Given the description of an element on the screen output the (x, y) to click on. 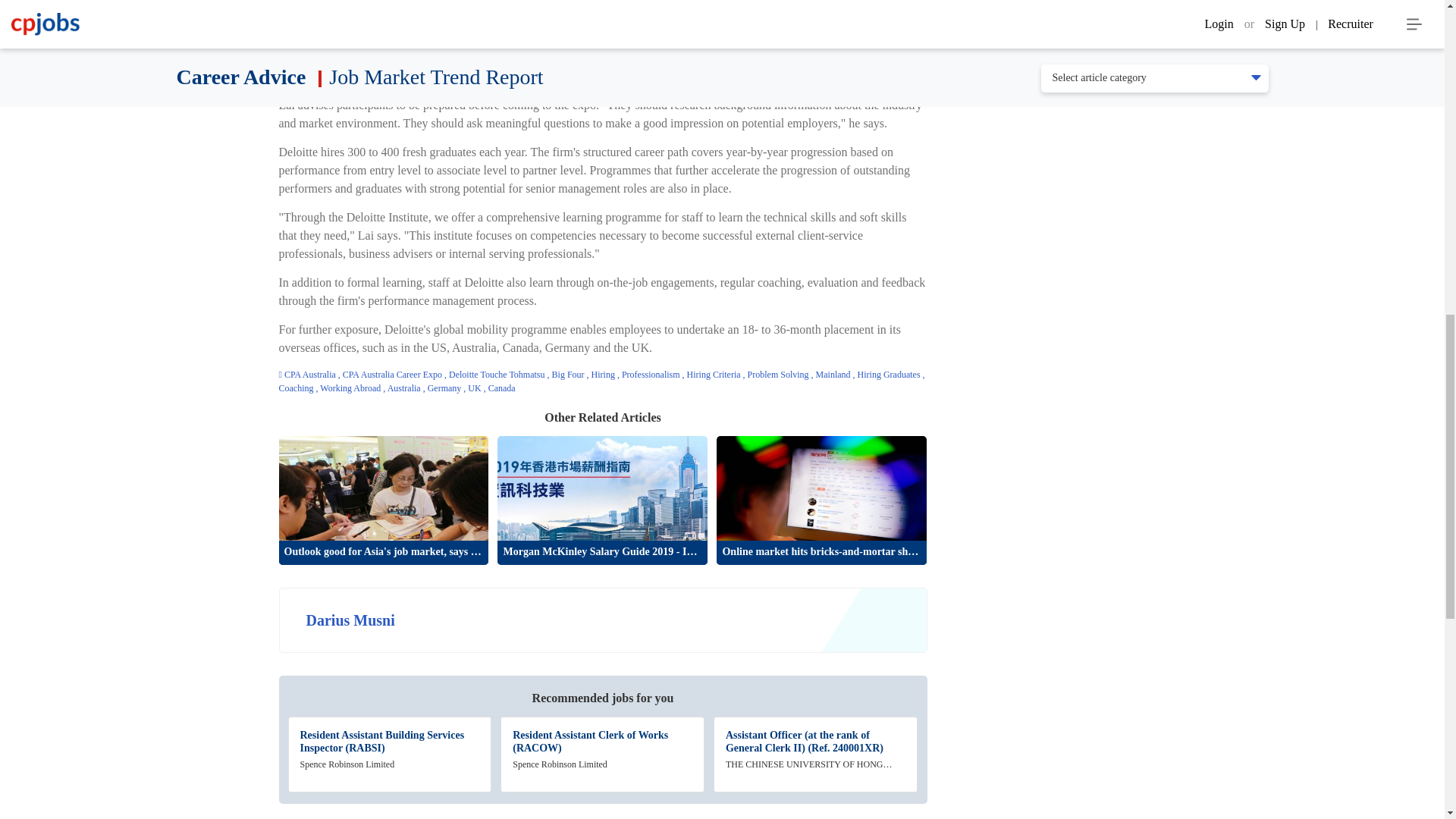
, Deloitte Touche Tohmatsu (495, 374)
, CPA Australia Career Expo (390, 374)
CPA Australia (310, 374)
, Big Four (566, 374)
